Given the description of an element on the screen output the (x, y) to click on. 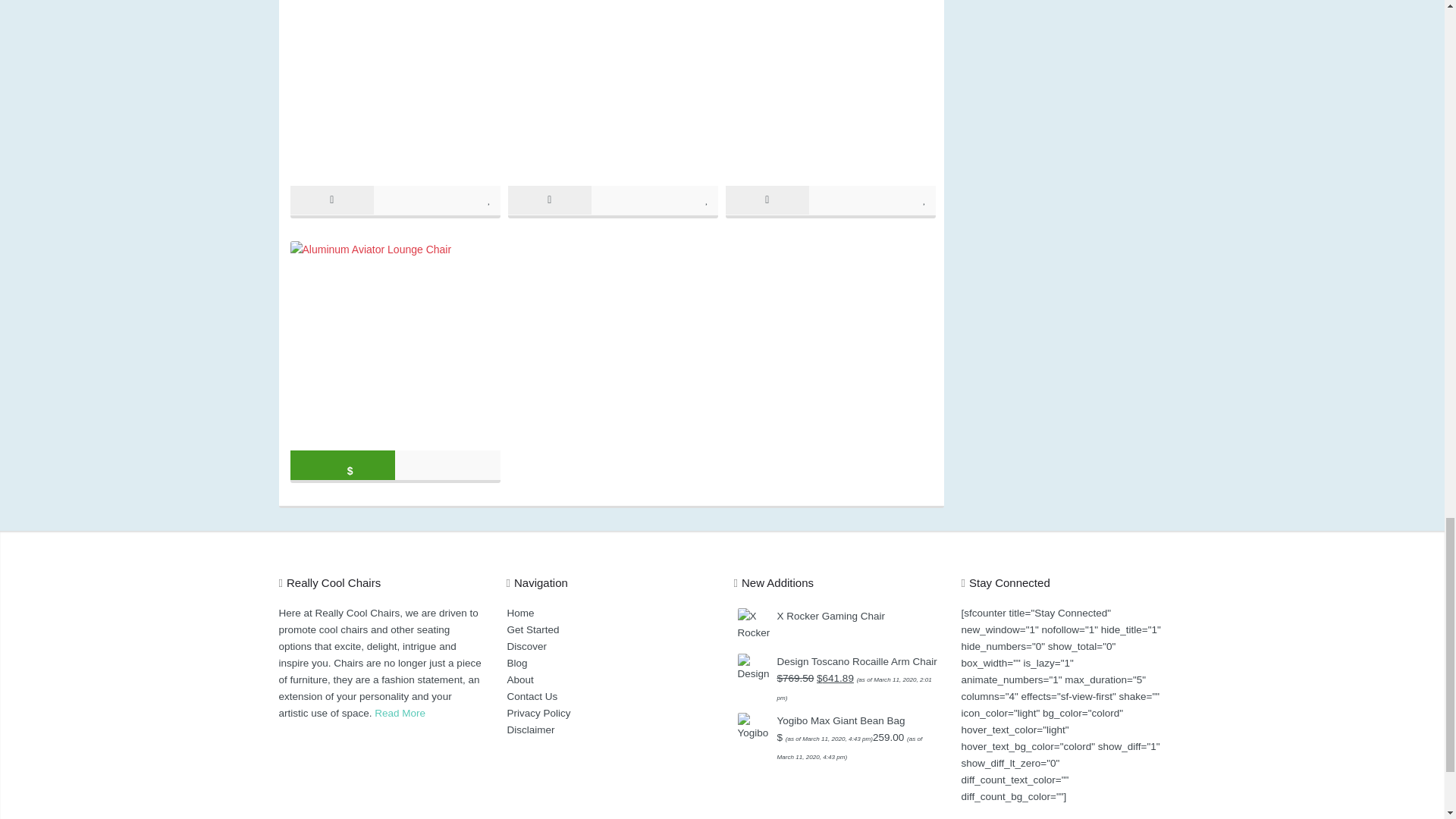
2 (925, 199)
0 (489, 199)
1 (707, 199)
About Really Cool Chairs (399, 713)
